Given the description of an element on the screen output the (x, y) to click on. 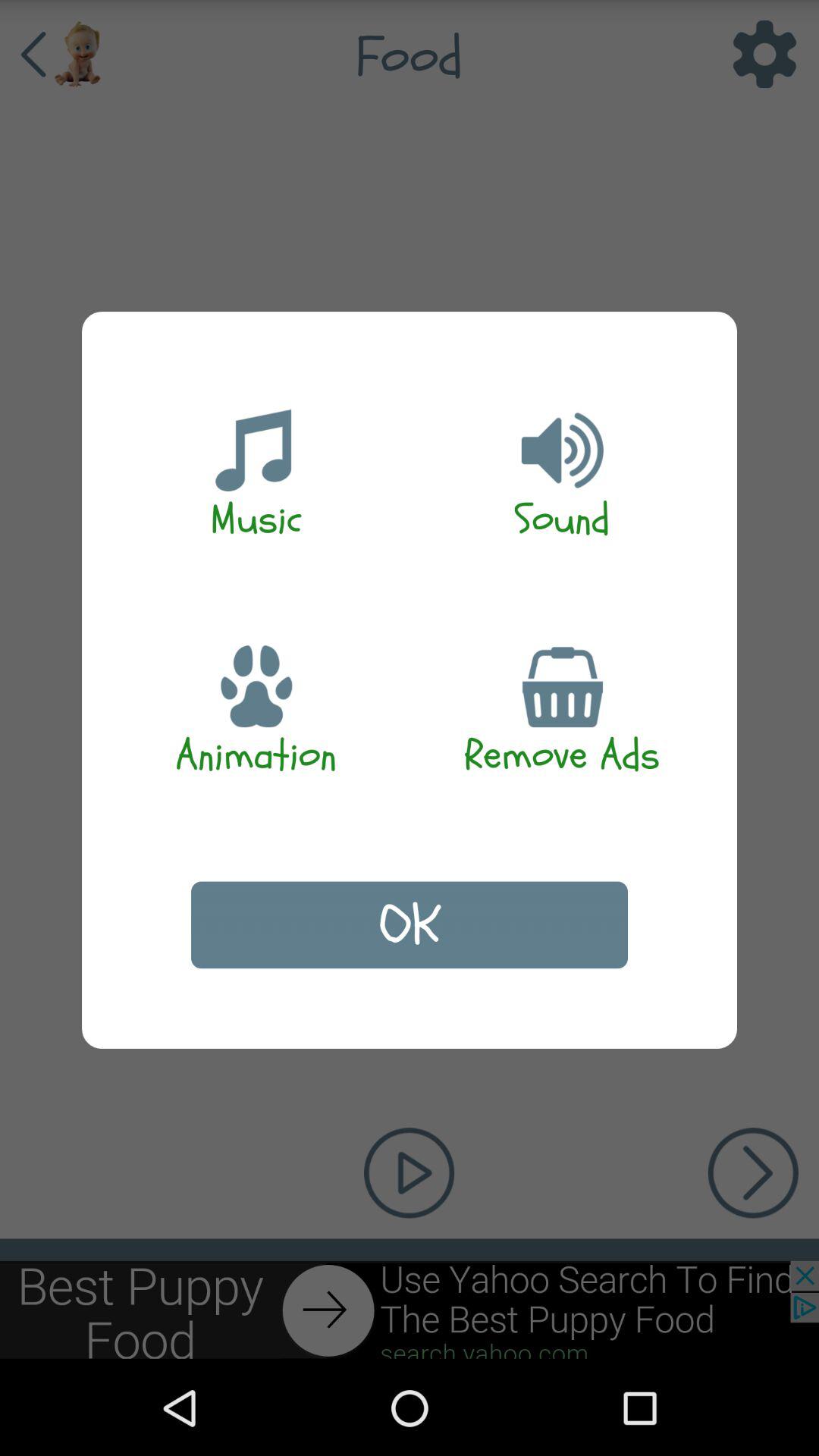
turn off ok button (409, 924)
